Given the description of an element on the screen output the (x, y) to click on. 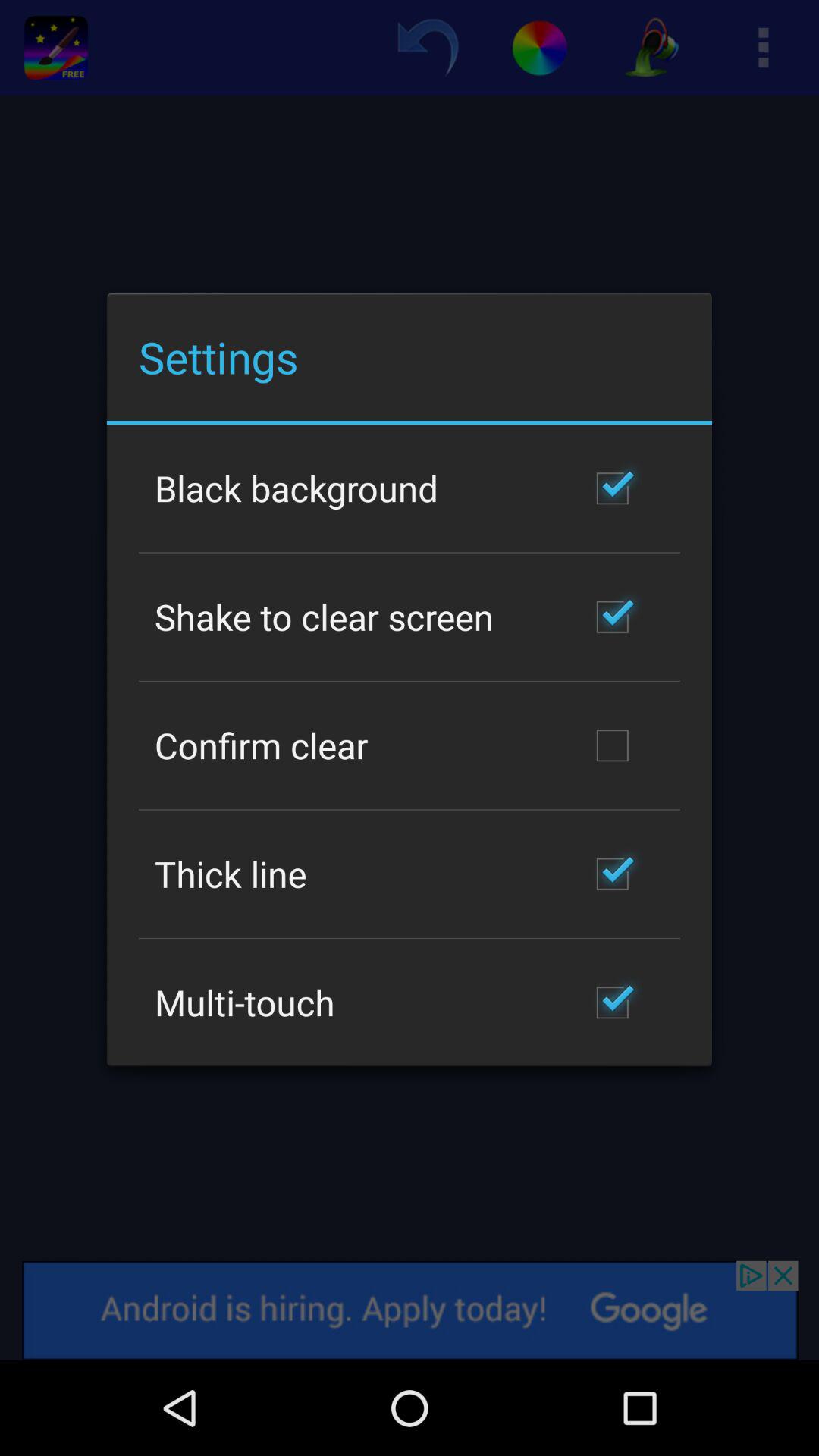
tap item below shake to clear item (260, 745)
